Given the description of an element on the screen output the (x, y) to click on. 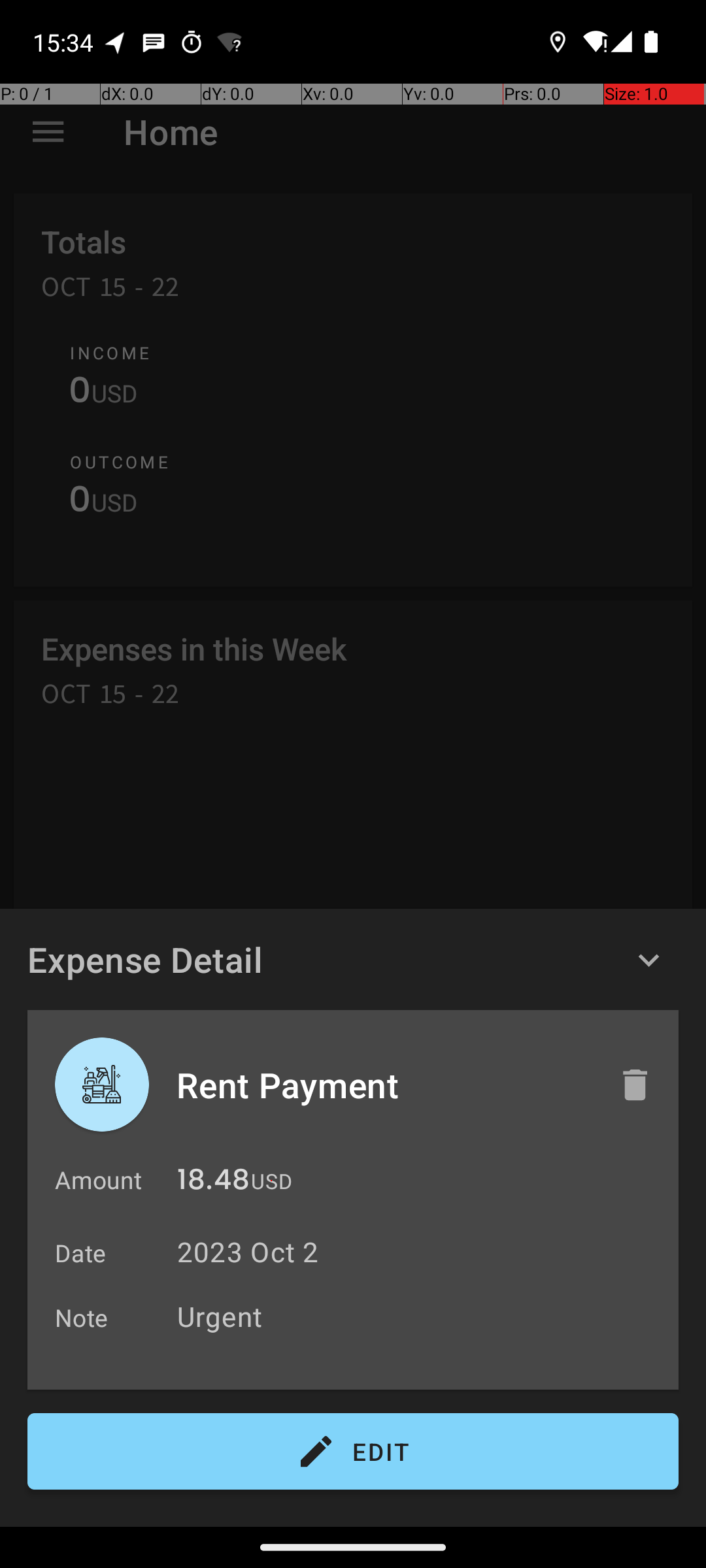
18.48 Element type: android.widget.TextView (213, 1182)
